Given the description of an element on the screen output the (x, y) to click on. 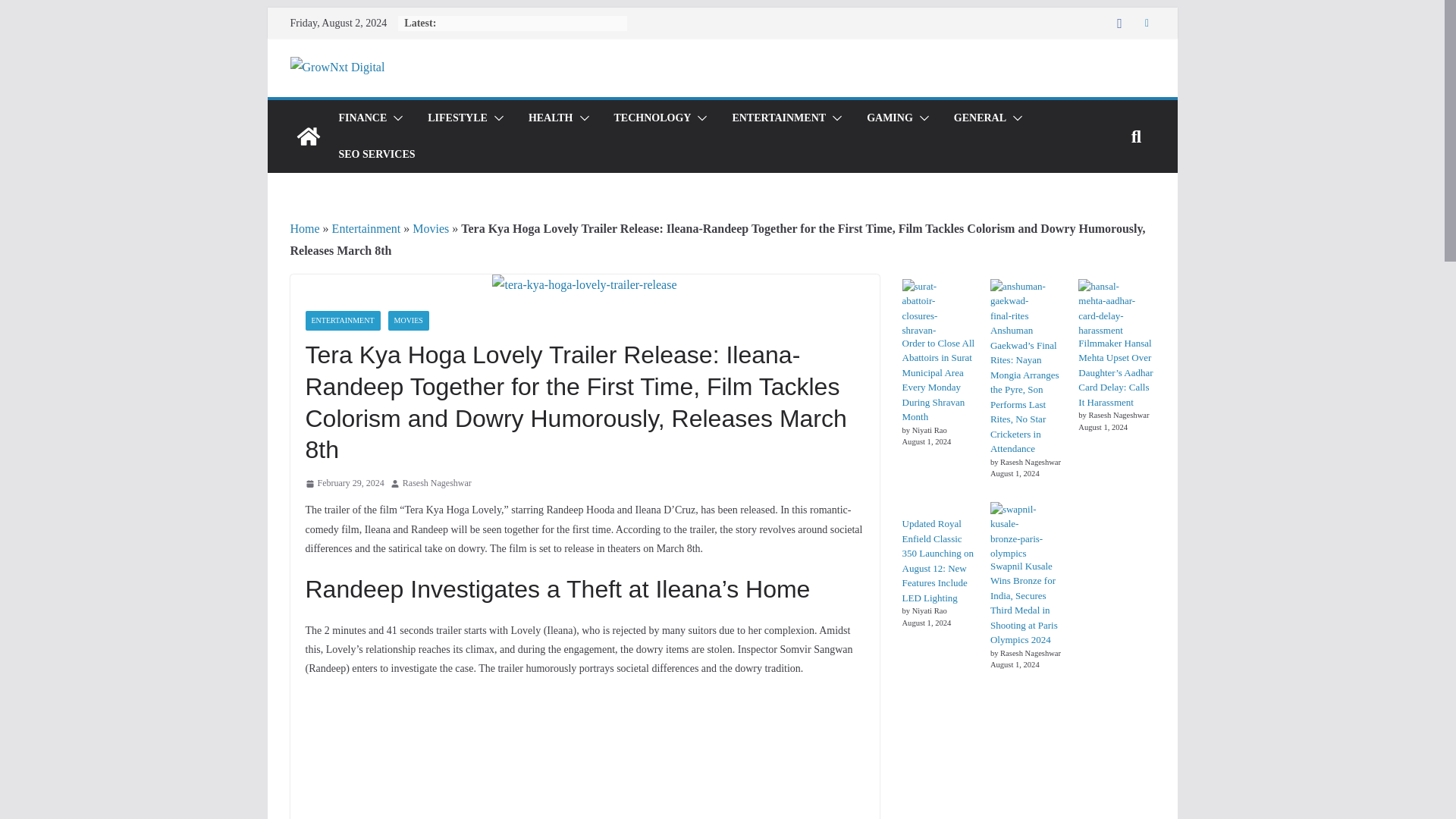
GAMING (889, 117)
GENERAL (979, 117)
TECHNOLOGY (652, 117)
GrowNxt Digital (307, 135)
ENTERTAINMENT (778, 117)
LIFESTYLE (457, 117)
7:15 pm (344, 483)
Rasesh Nageshwar (437, 483)
HEALTH (550, 117)
FINANCE (362, 117)
